Given the description of an element on the screen output the (x, y) to click on. 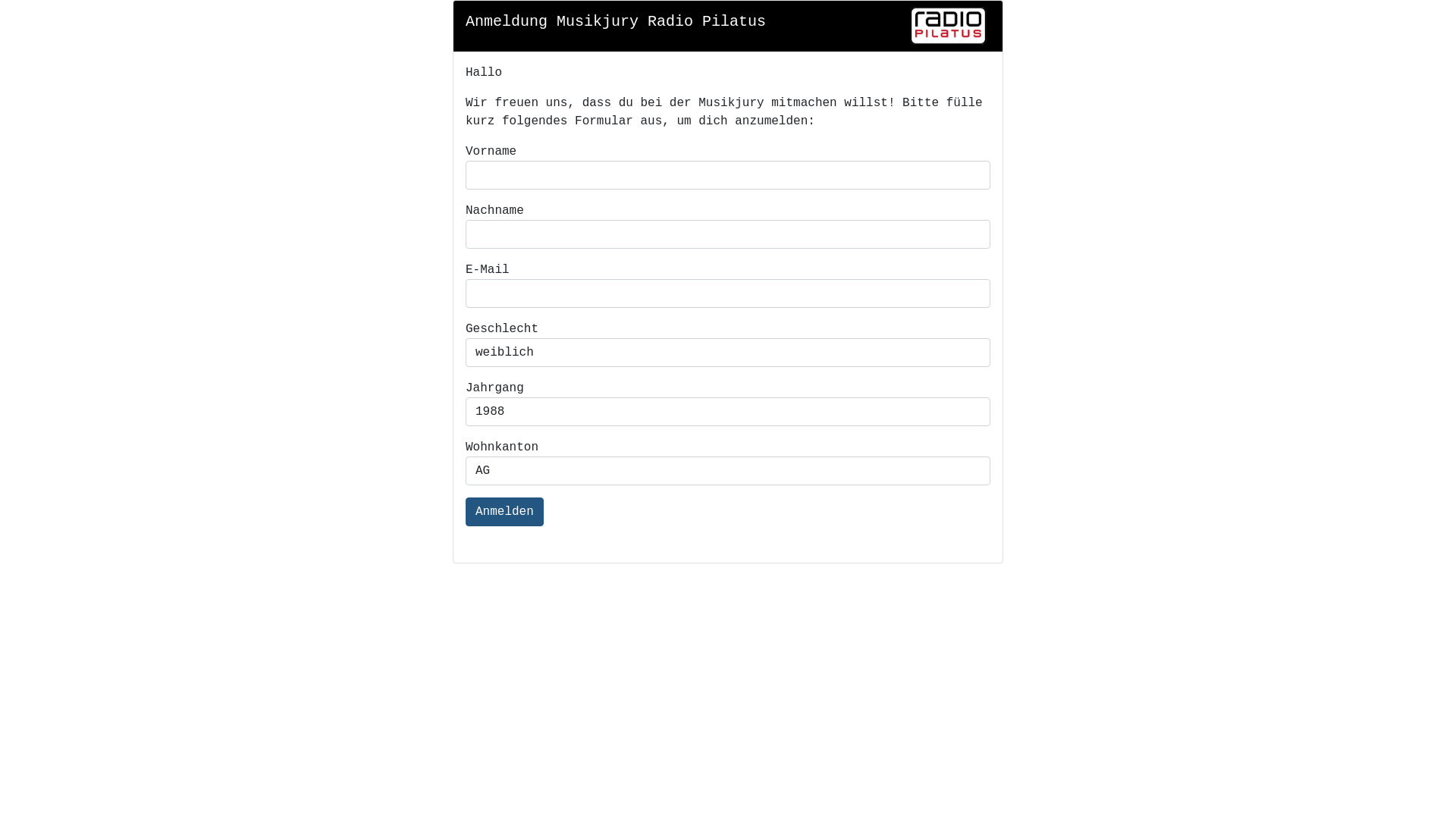
Anmelden Element type: text (504, 511)
